Given the description of an element on the screen output the (x, y) to click on. 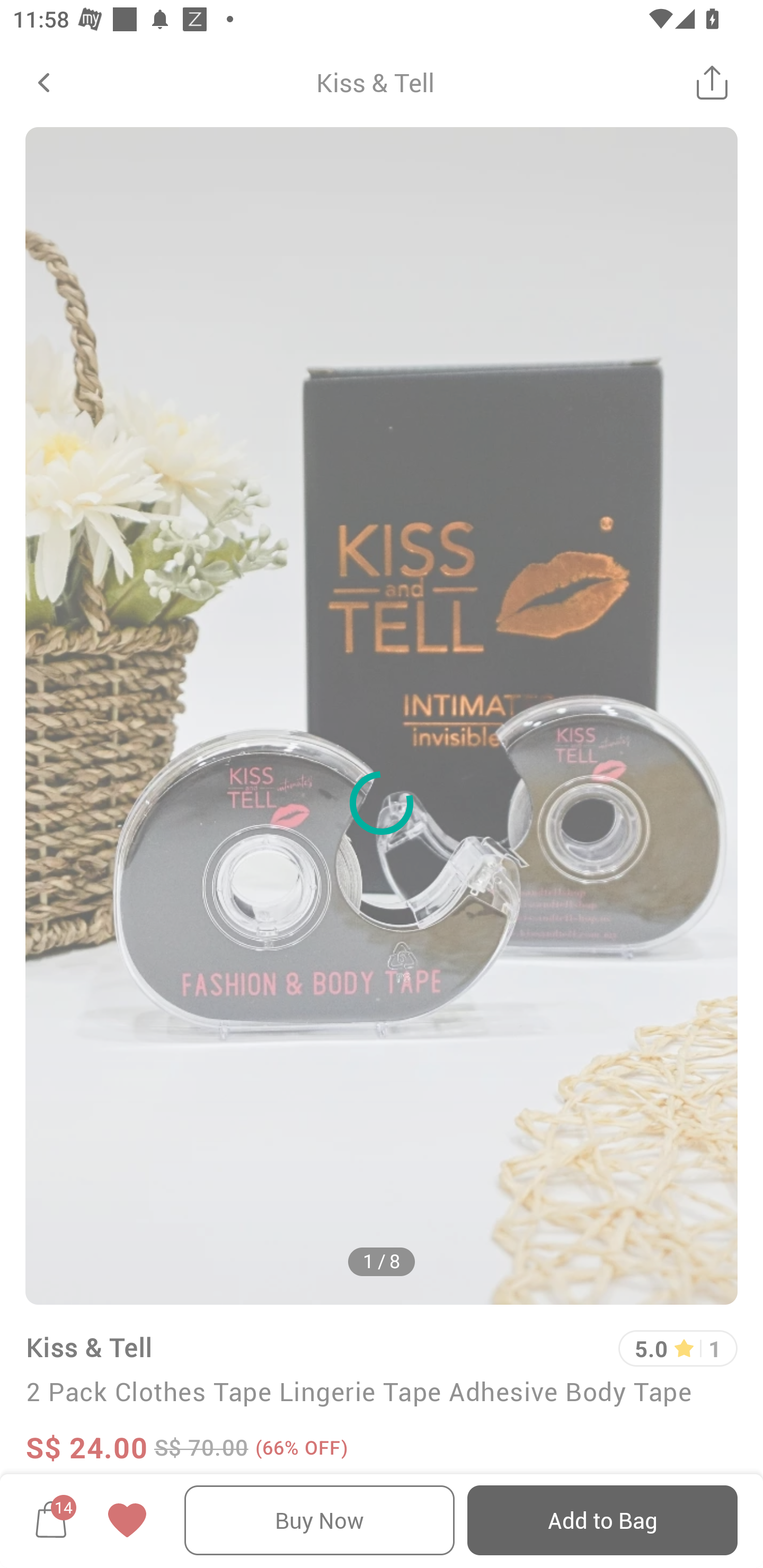
Kiss & Tell (375, 82)
Share this Product (711, 82)
Kiss & Tell (88, 1346)
5.0 1 (677, 1348)
Buy Now (319, 1519)
Add to Bag (601, 1519)
14 (50, 1520)
